Given the description of an element on the screen output the (x, y) to click on. 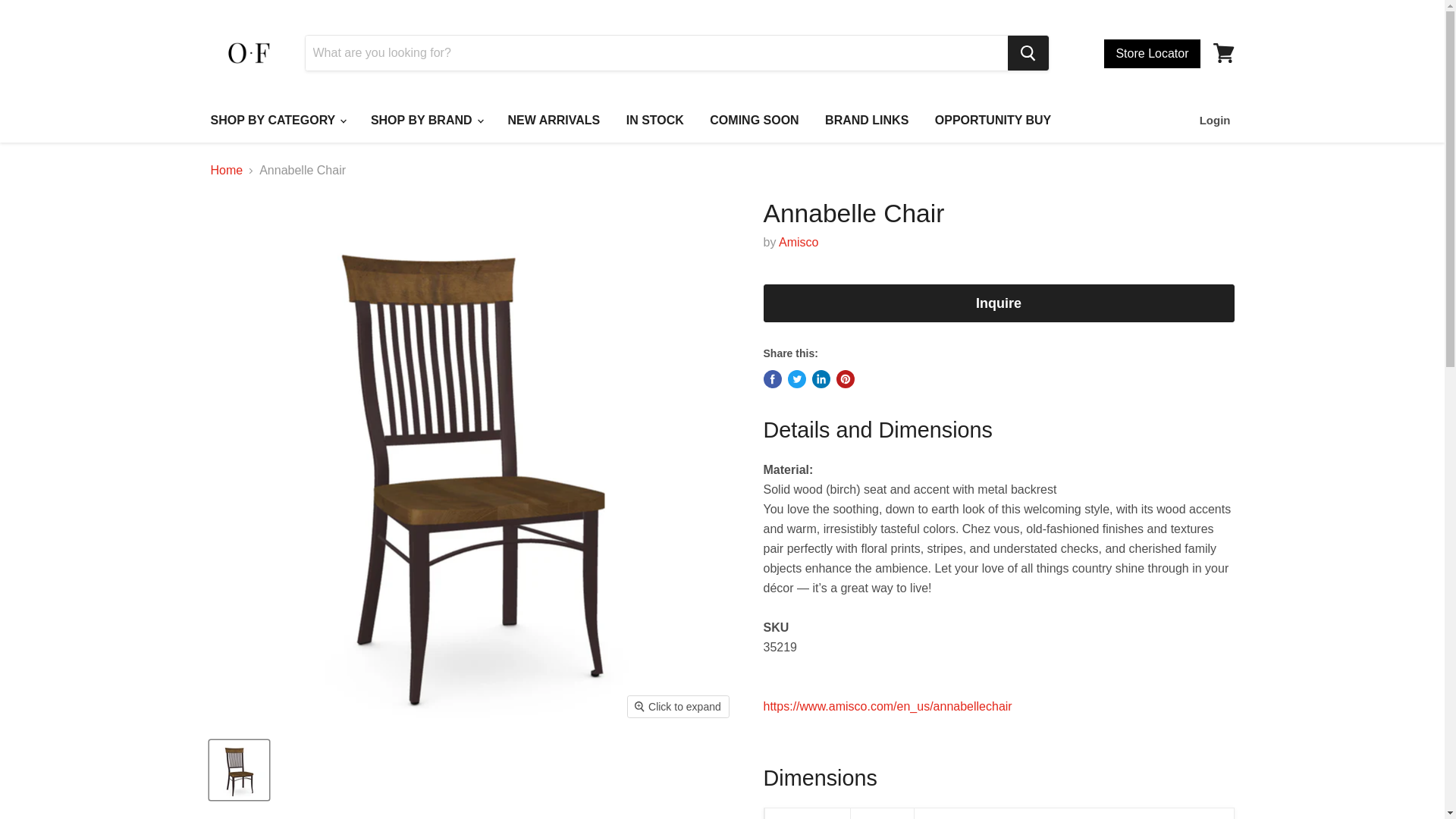
View cart (1223, 53)
Store Locator (1151, 53)
Amisco (798, 241)
Annabelle Amisco Chair (886, 706)
SHOP BY CATEGORY (276, 120)
